Given the description of an element on the screen output the (x, y) to click on. 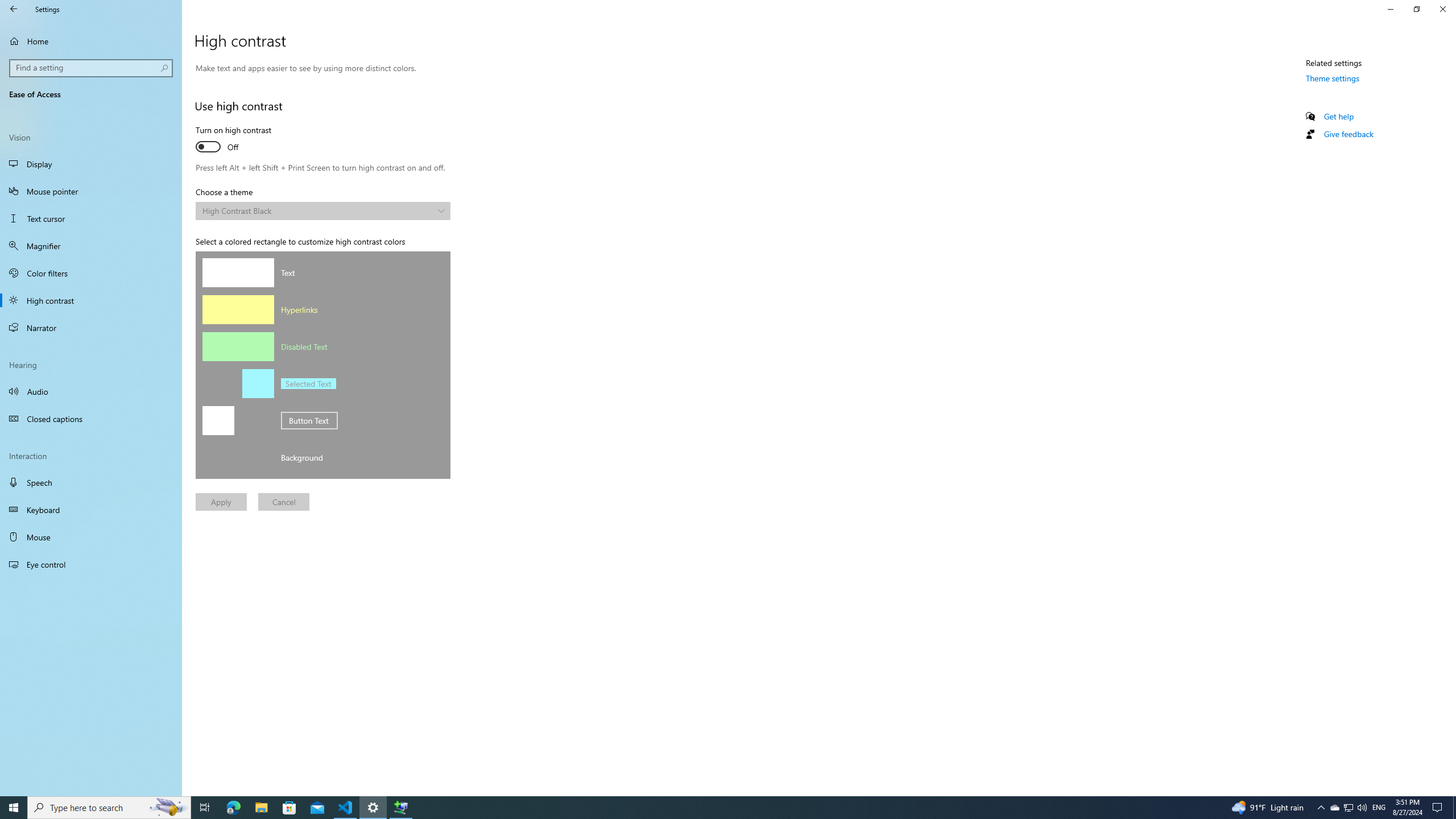
High contrast (91, 299)
Magnifier (91, 245)
Microsoft Edge (233, 807)
Selected text color (218, 383)
Speech (91, 482)
Microsoft Store (289, 807)
Mouse (91, 536)
Selected text background color (257, 383)
Notification Chevron (1320, 807)
Button background color (257, 420)
Visual Studio Code - 1 running window (345, 807)
Minimize Settings (1390, 9)
